Given the description of an element on the screen output the (x, y) to click on. 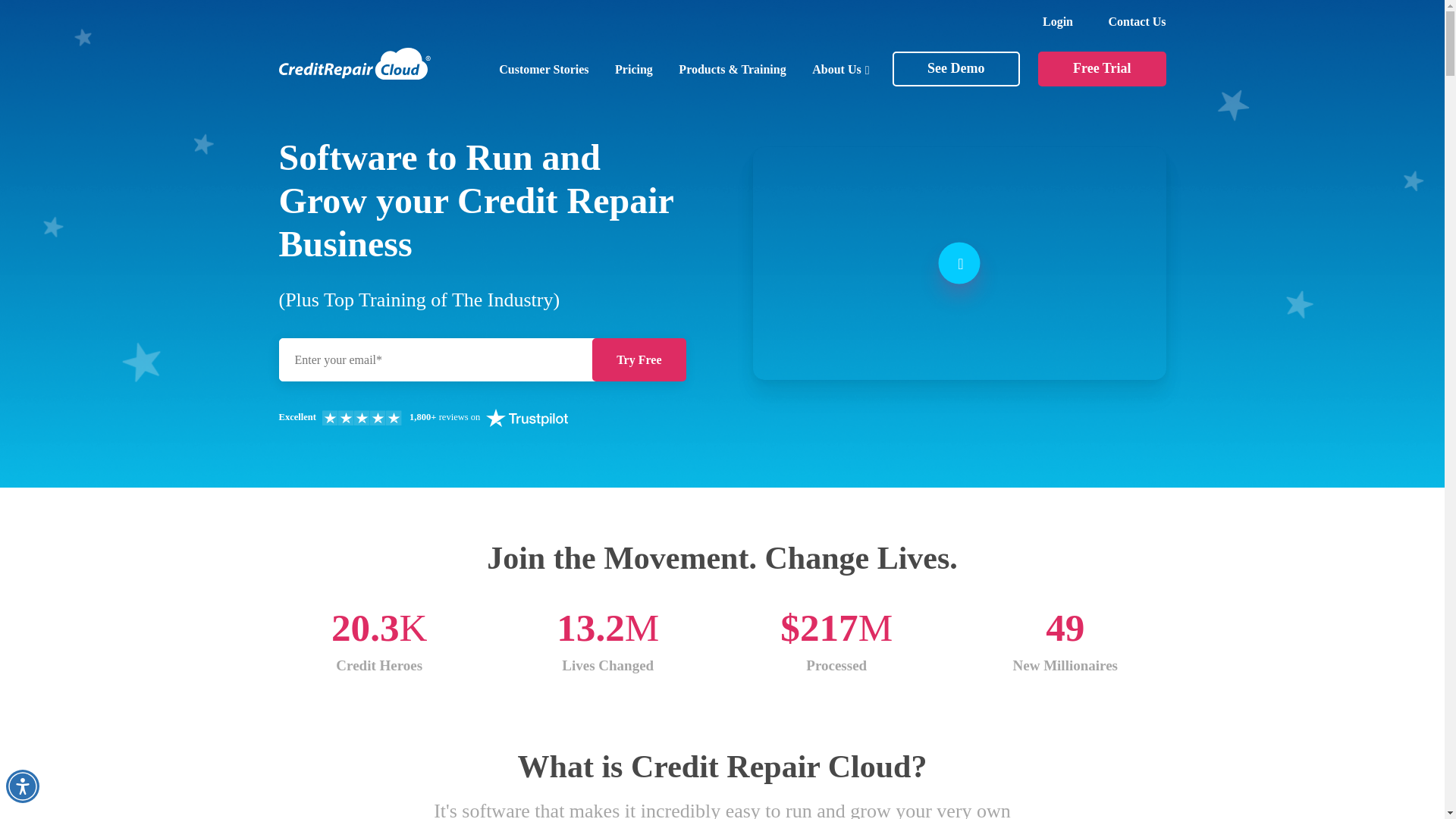
Free Trial (1102, 68)
Try Free (638, 359)
Free Trial (1102, 68)
Pricing (633, 69)
About Us (840, 69)
Contact Us (1137, 21)
Accessibility Menu (22, 786)
Try Free (638, 359)
See Demo (955, 68)
Login (1057, 21)
Customer Stories (543, 69)
See Demo (955, 68)
